Given the description of an element on the screen output the (x, y) to click on. 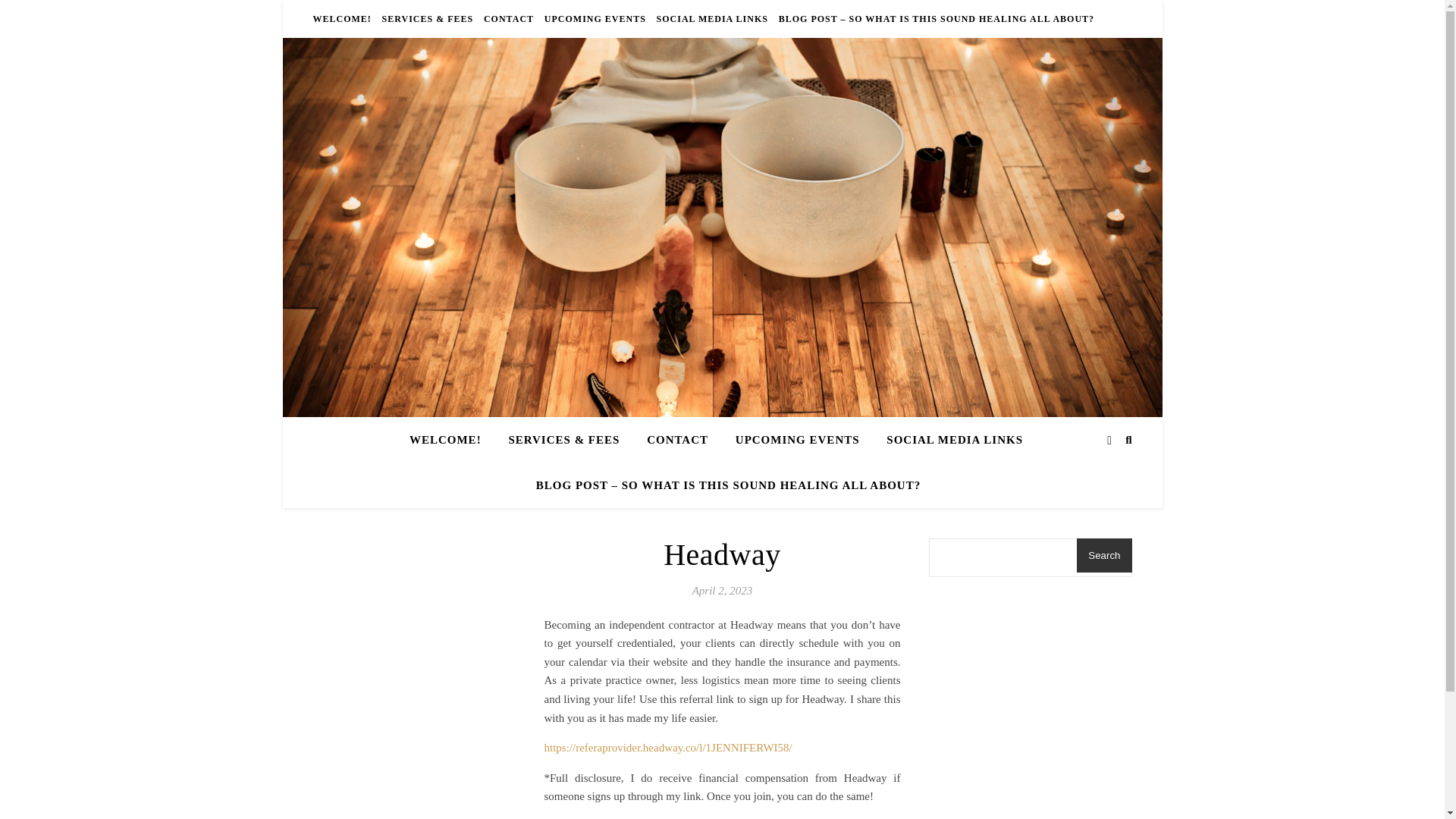
Search (1104, 555)
CONTACT (508, 18)
CONTACT (677, 439)
UPCOMING EVENTS (594, 18)
WELCOME! (343, 18)
SOCIAL MEDIA LINKS (955, 439)
SOCIAL MEDIA LINKS (711, 18)
WELCOME! (451, 439)
UPCOMING EVENTS (797, 439)
